Given the description of an element on the screen output the (x, y) to click on. 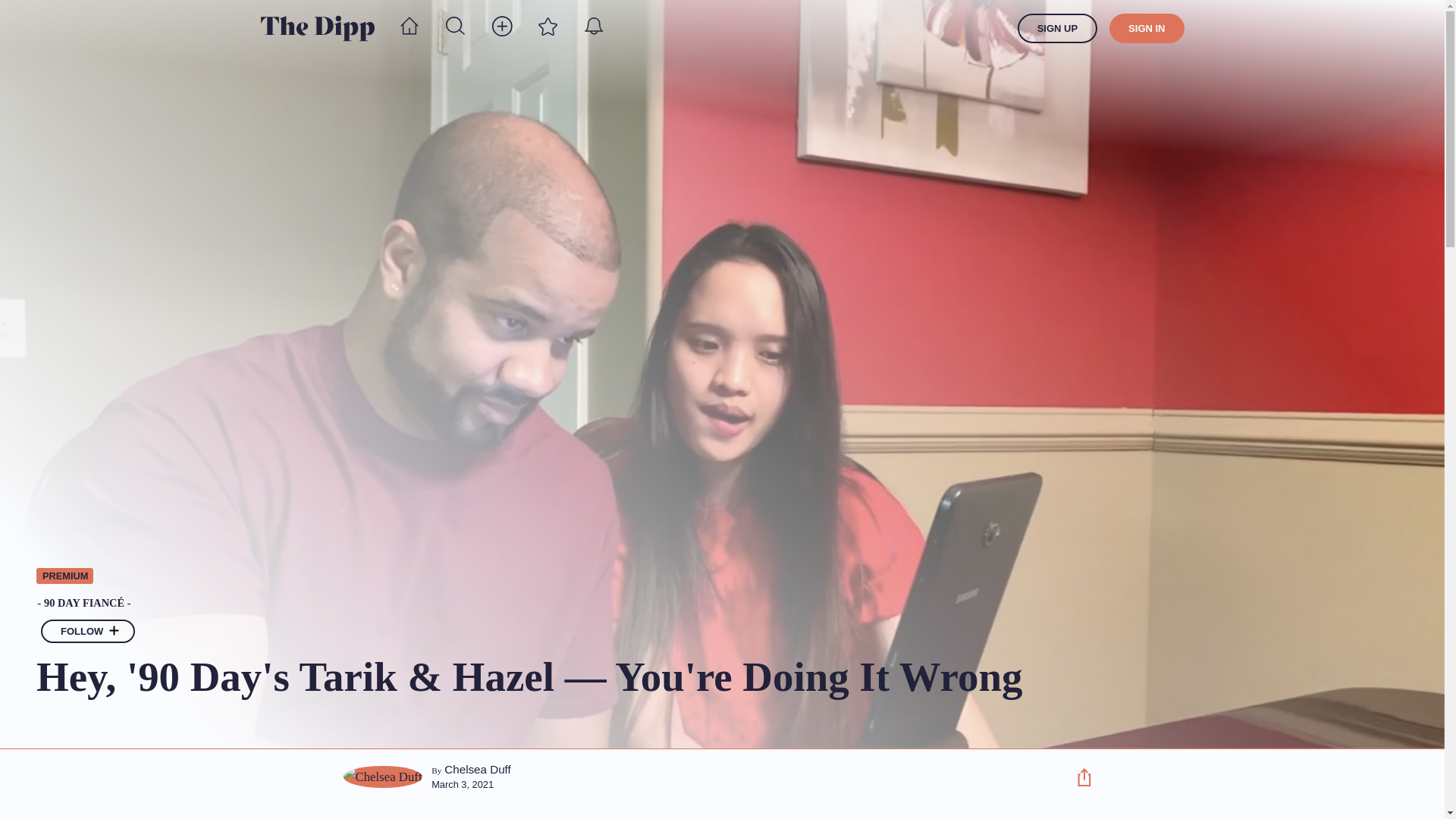
Chelsea Duff (477, 768)
SIGN UP (1057, 28)
Dipp (317, 28)
SIGN IN (1146, 28)
FOLLOW (87, 631)
